Given the description of an element on the screen output the (x, y) to click on. 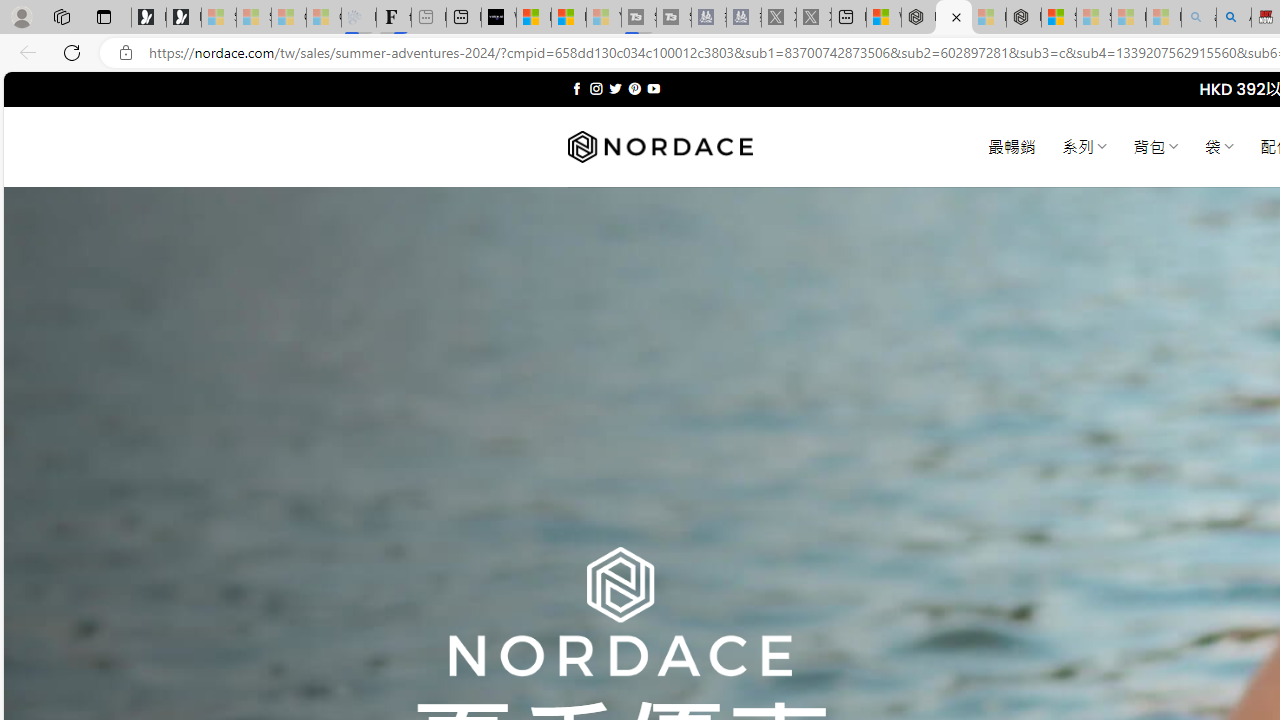
Newsletter Sign Up (183, 17)
Amazon Echo Dot PNG - Search Images (1233, 17)
Follow on Twitter (615, 88)
Nordace - Summer Adventures 2024 (954, 17)
Follow on YouTube (653, 88)
Microsoft Start (568, 17)
